Given the description of an element on the screen output the (x, y) to click on. 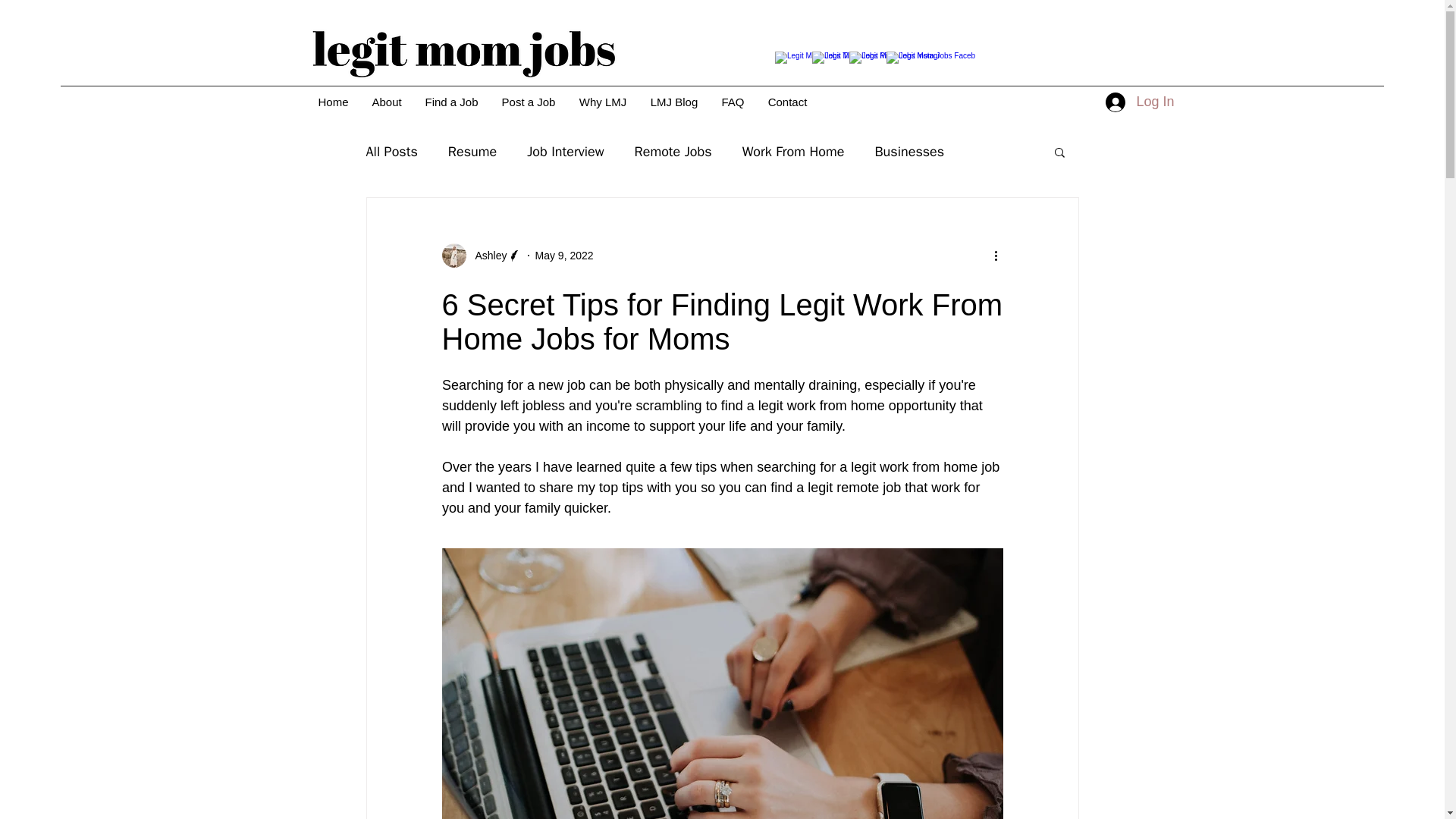
LMJ Blog (674, 101)
Why LMJ (603, 101)
All Posts (390, 151)
May 9, 2022 (564, 254)
About (385, 101)
Businesses (909, 151)
Home (332, 101)
Remote Jobs (672, 151)
Ashley (481, 255)
Log In (1139, 101)
Post a Job (528, 101)
Find a Job (450, 101)
FAQ (732, 101)
Job Interview (565, 151)
Contact (786, 101)
